Given the description of an element on the screen output the (x, y) to click on. 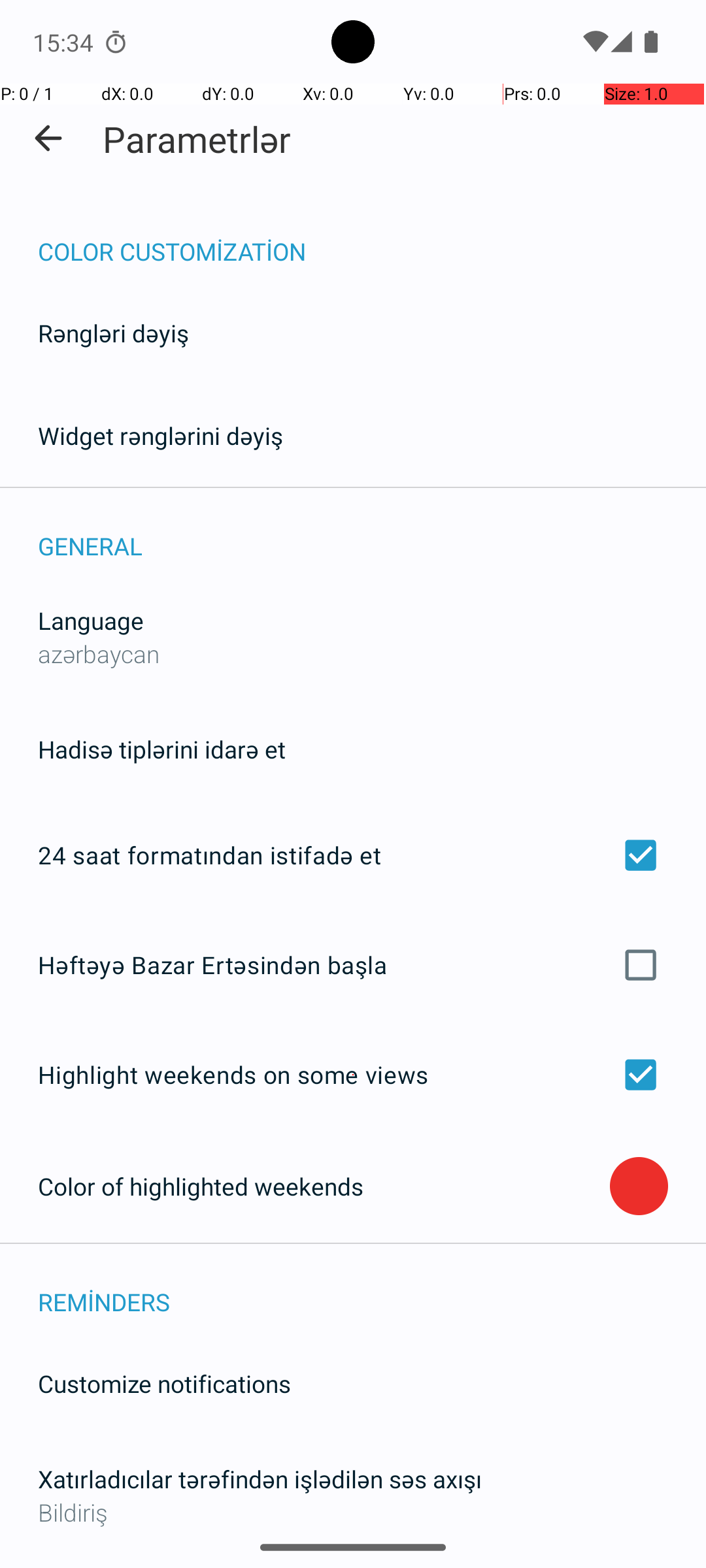
COLOR CUSTOMİZATİON Element type: android.widget.TextView (371, 237)
REMİNDERS Element type: android.widget.TextView (371, 1287)
Rəngləri dəyiş Element type: android.widget.TextView (112, 332)
Widget rənglərini dəyiş Element type: android.widget.TextView (160, 435)
azərbaycan Element type: android.widget.TextView (98, 653)
Hadisə tiplərini idarə et Element type: android.widget.TextView (161, 748)
24 saat formatından istifadə et Element type: android.widget.CheckBox (352, 855)
Həftəyə Bazar Ertəsindən başla Element type: android.widget.CheckBox (352, 964)
Xatırladıcılar tərəfindən işlədilən səs axışı Element type: android.widget.TextView (259, 1478)
Bildiriş Element type: android.widget.TextView (352, 1511)
